Given the description of an element on the screen output the (x, y) to click on. 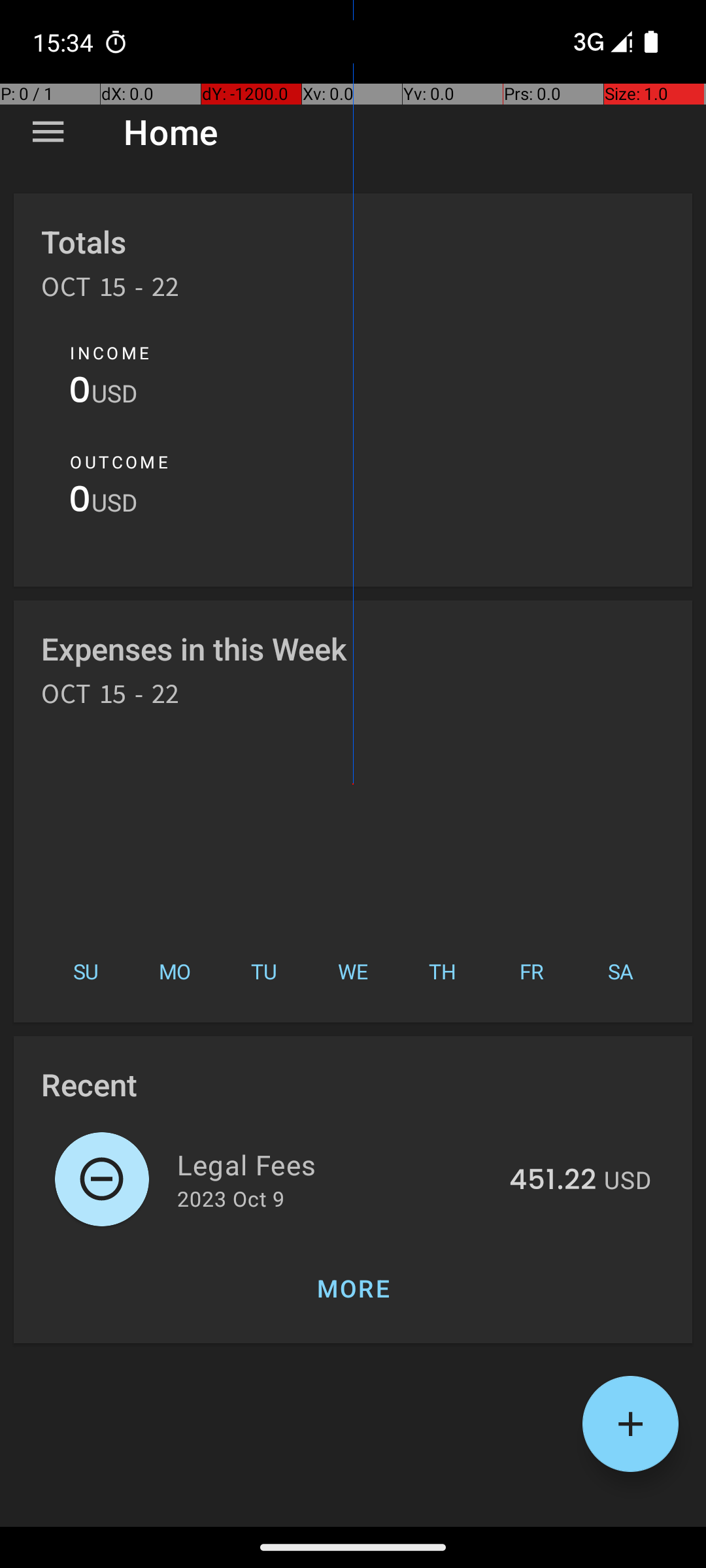
Legal Fees Element type: android.widget.TextView (335, 1164)
451.22 Element type: android.widget.TextView (552, 1180)
